Given the description of an element on the screen output the (x, y) to click on. 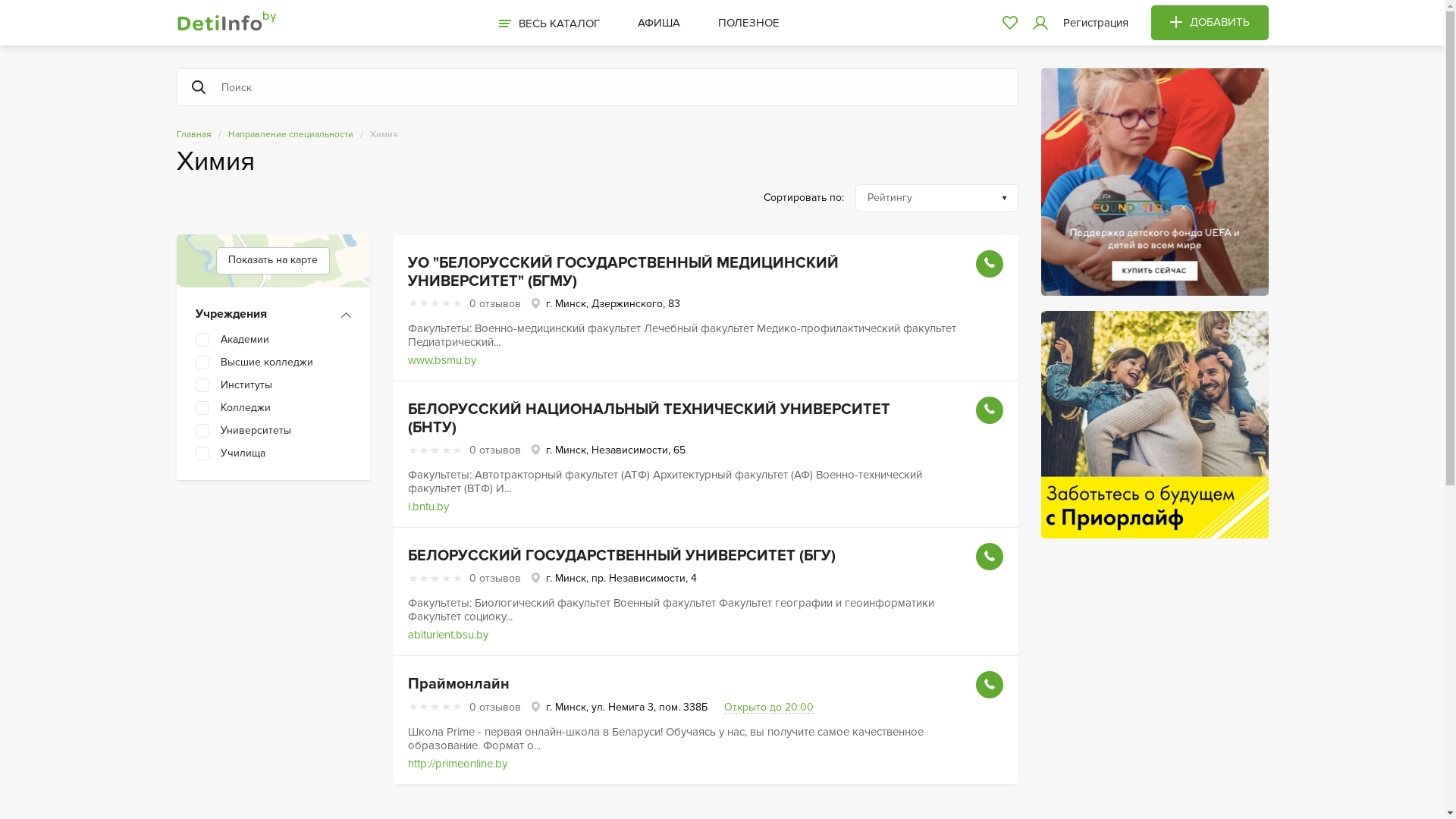
www.bsmu.by Element type: text (441, 360)
abiturient.bsu.by Element type: text (447, 635)
http://primeonline.by Element type: text (457, 764)
i.bntu.by Element type: text (427, 507)
